Given the description of an element on the screen output the (x, y) to click on. 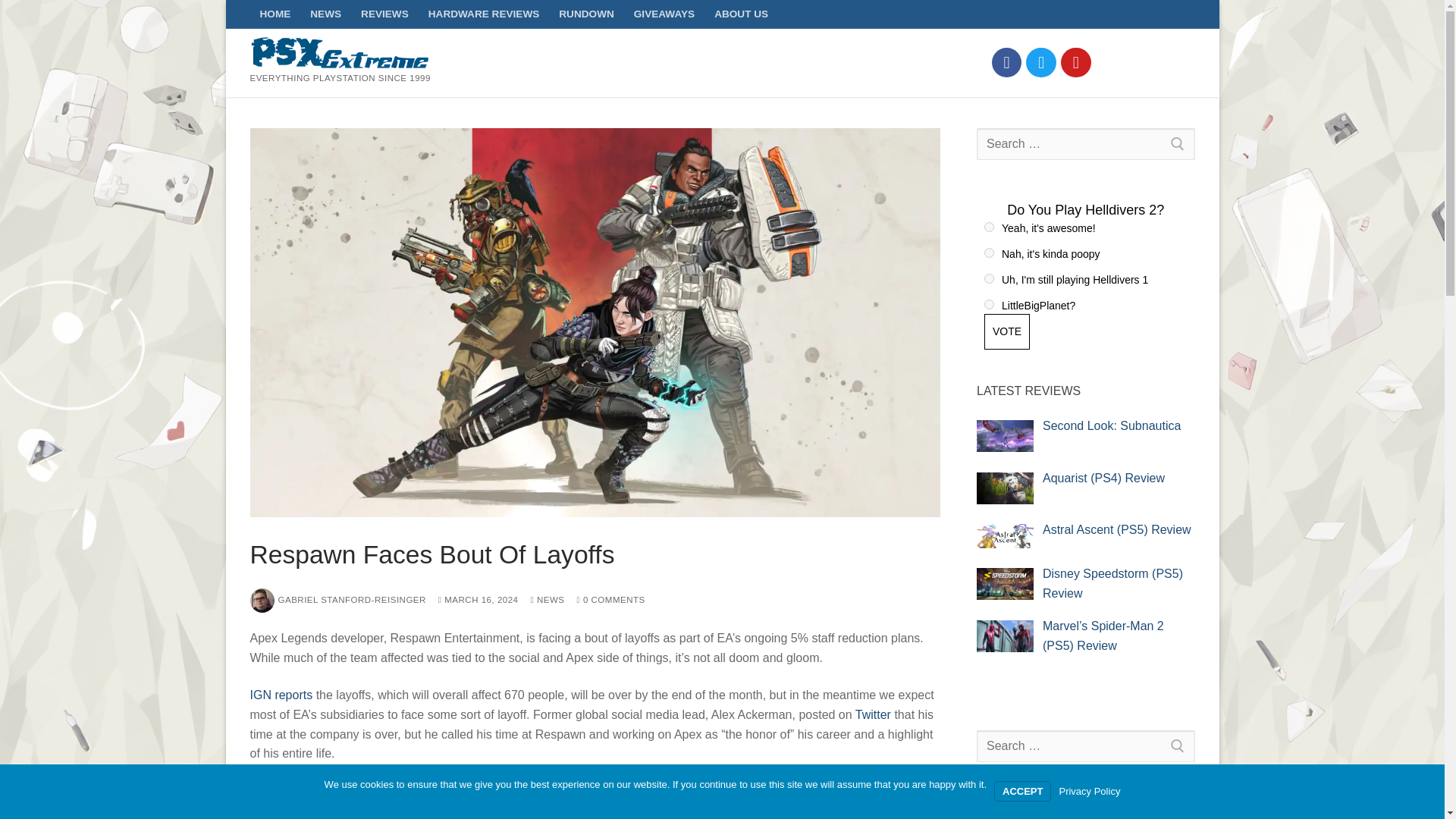
GABRIEL STANFORD-REISINGER (338, 599)
GIVEAWAYS (664, 14)
RUNDOWN (586, 14)
Facebook (1006, 62)
Twitter (1040, 62)
Twitter (873, 714)
0 COMMENTS (610, 599)
HOME (275, 14)
18 (989, 304)
14 (989, 226)
